Given the description of an element on the screen output the (x, y) to click on. 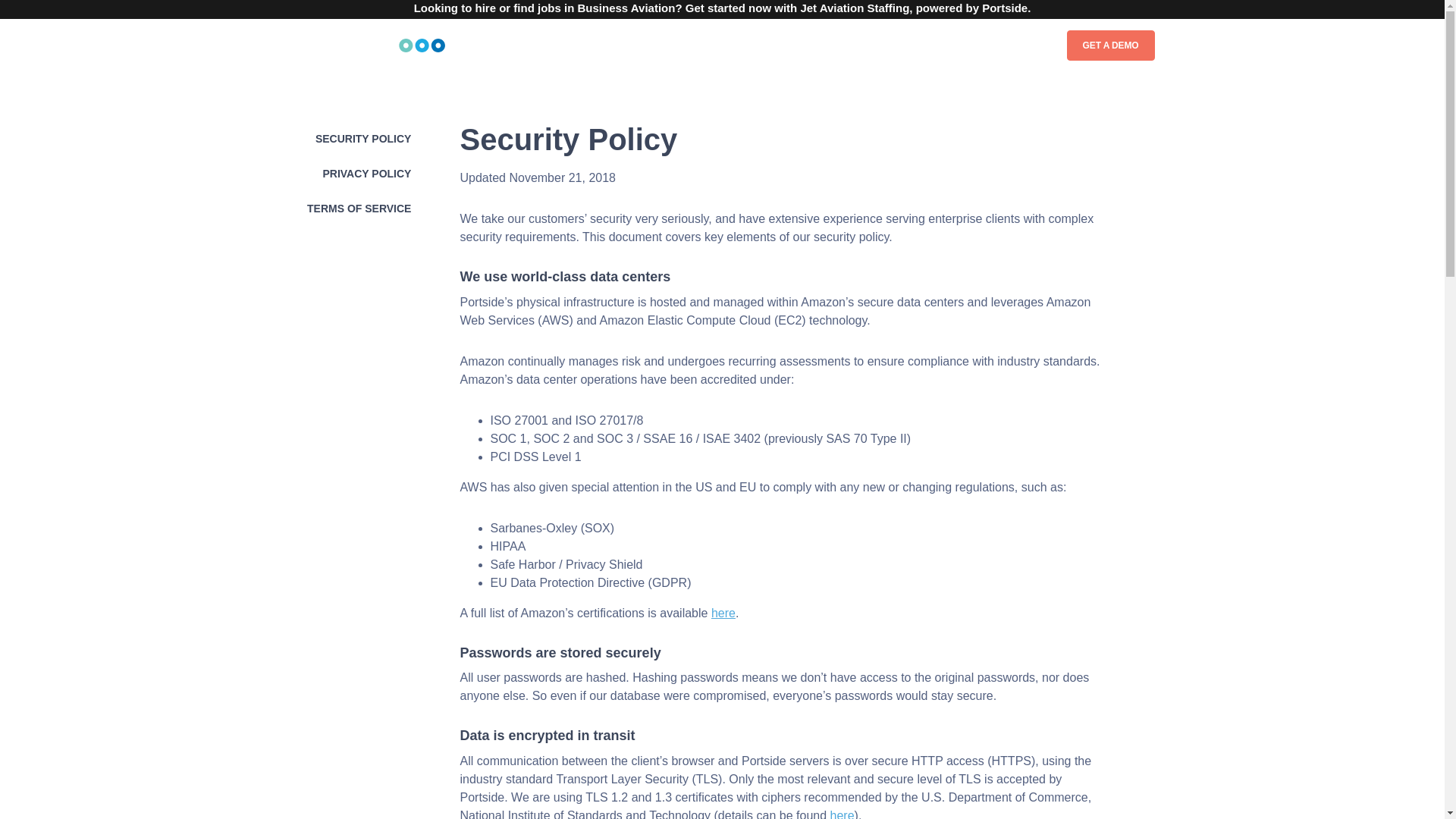
PRODUCTS (605, 45)
SOLUTIONS (691, 45)
OUR CUSTOMERS (787, 45)
TECHNOLOGY (888, 45)
